Given the description of an element on the screen output the (x, y) to click on. 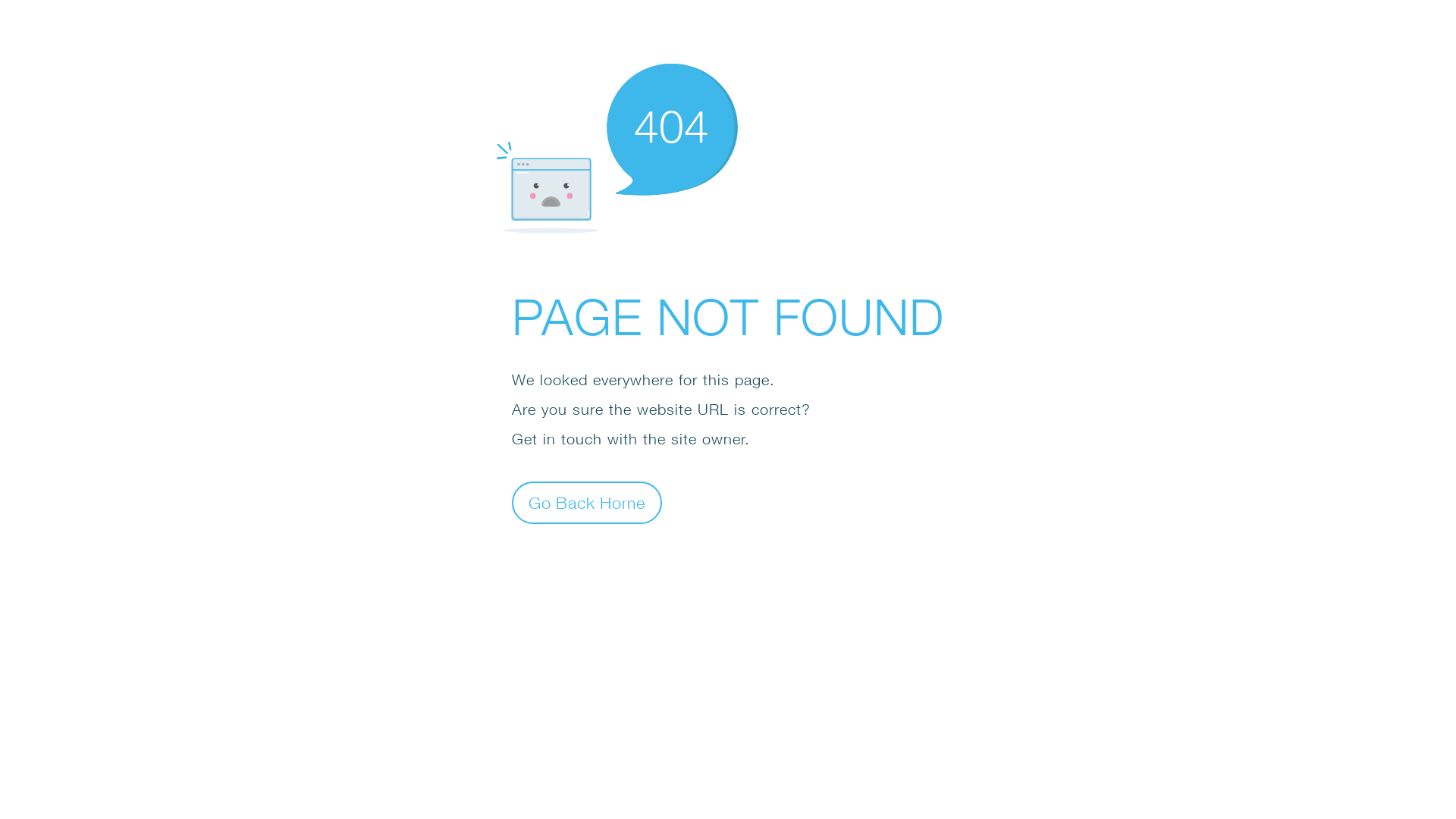
Go Back Home Element type: text (586, 502)
